Given the description of an element on the screen output the (x, y) to click on. 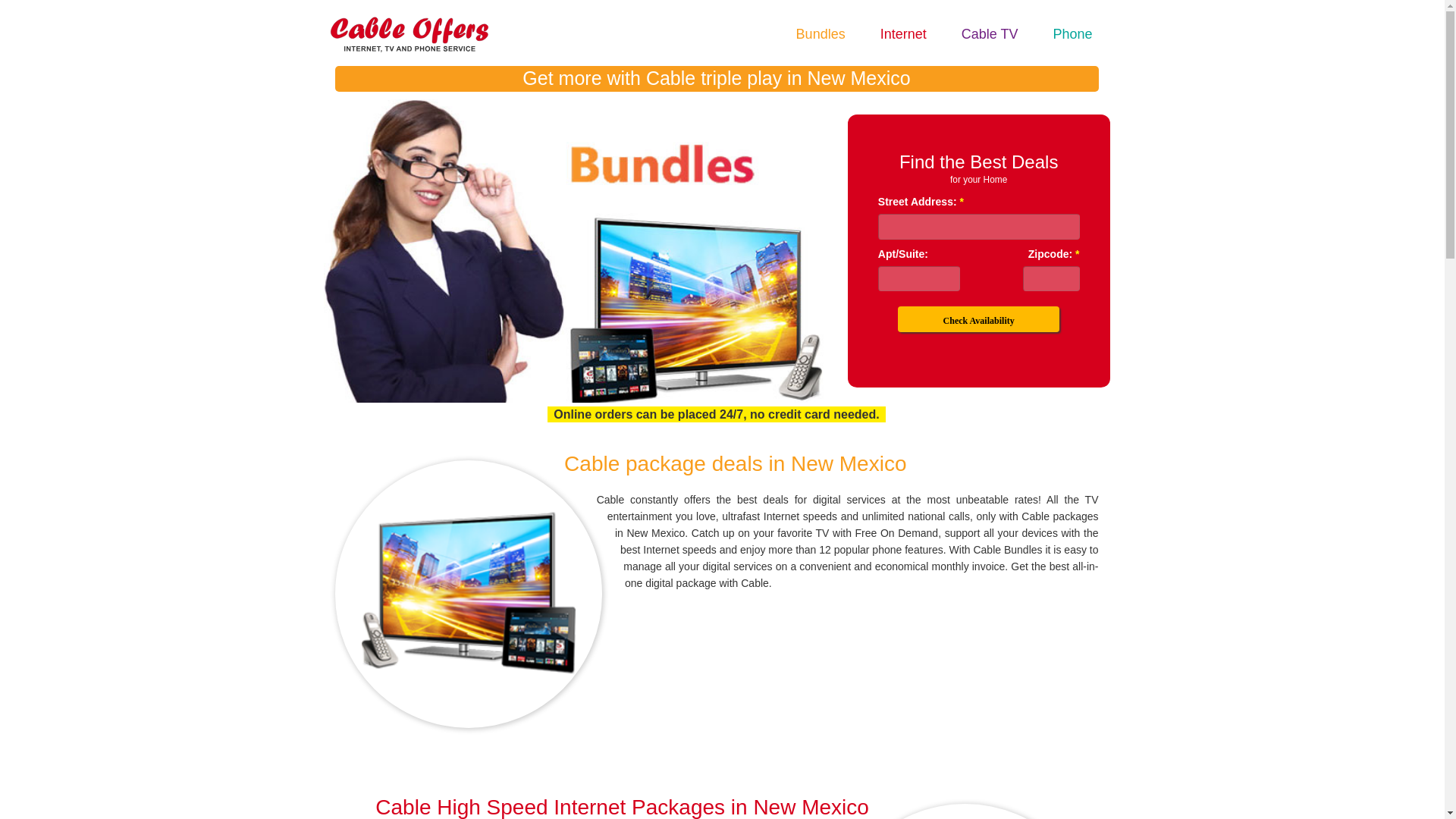
Cable TV (990, 33)
Bundles (820, 33)
Internet (904, 33)
Phone (1071, 33)
